Given the description of an element on the screen output the (x, y) to click on. 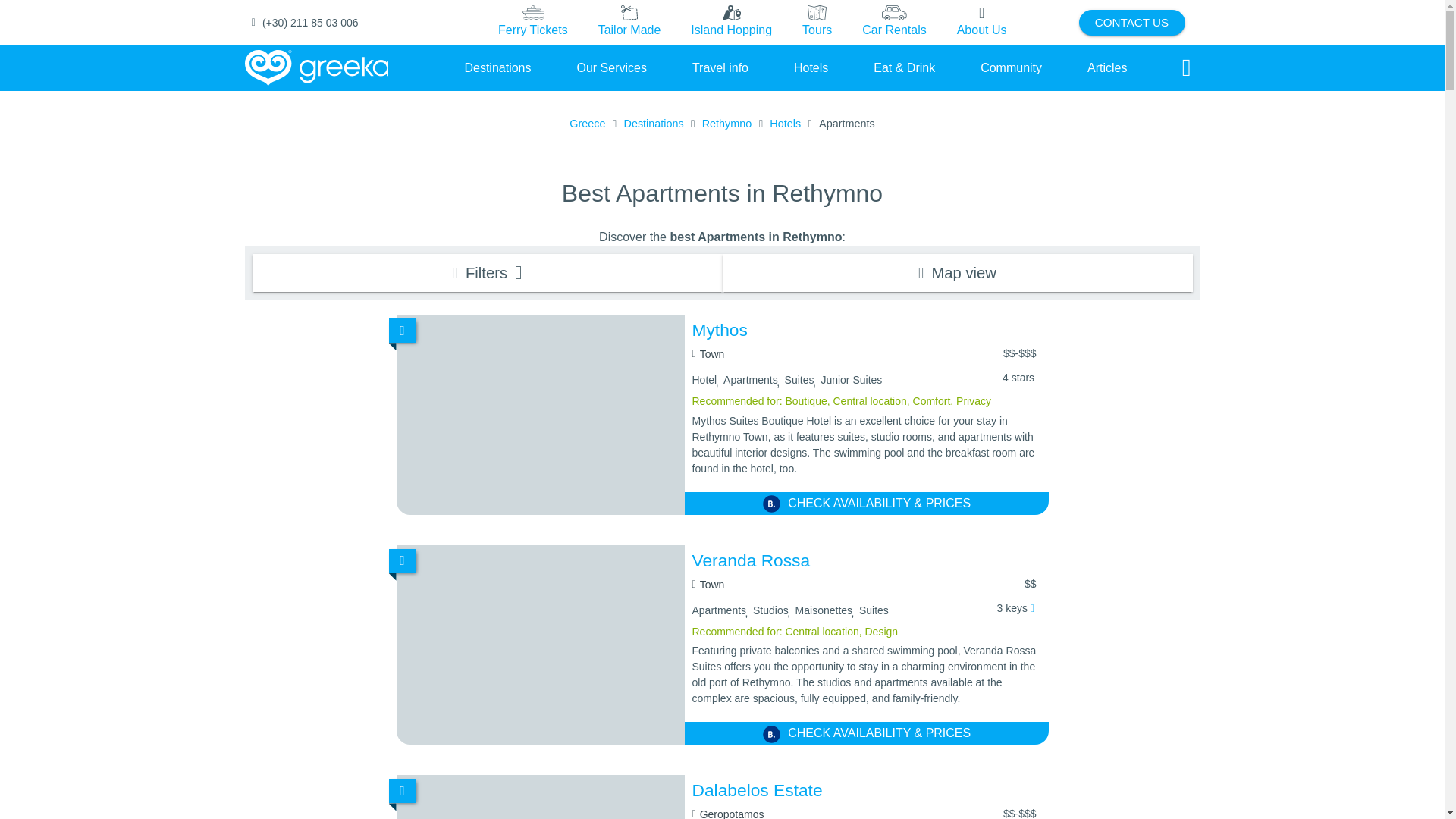
Search (1185, 67)
Island hopping (731, 22)
4 stars (1018, 377)
Apartments (846, 123)
Greece by Greeka (316, 67)
Our Services (611, 67)
About Us (981, 22)
Travel Services (611, 67)
Hotels (785, 123)
Community Feed (1010, 67)
Mythos (866, 330)
Book at Mythos with Booking.com (866, 503)
Greece (587, 123)
Tours (817, 22)
Tailor Made (629, 22)
